Given the description of an element on the screen output the (x, y) to click on. 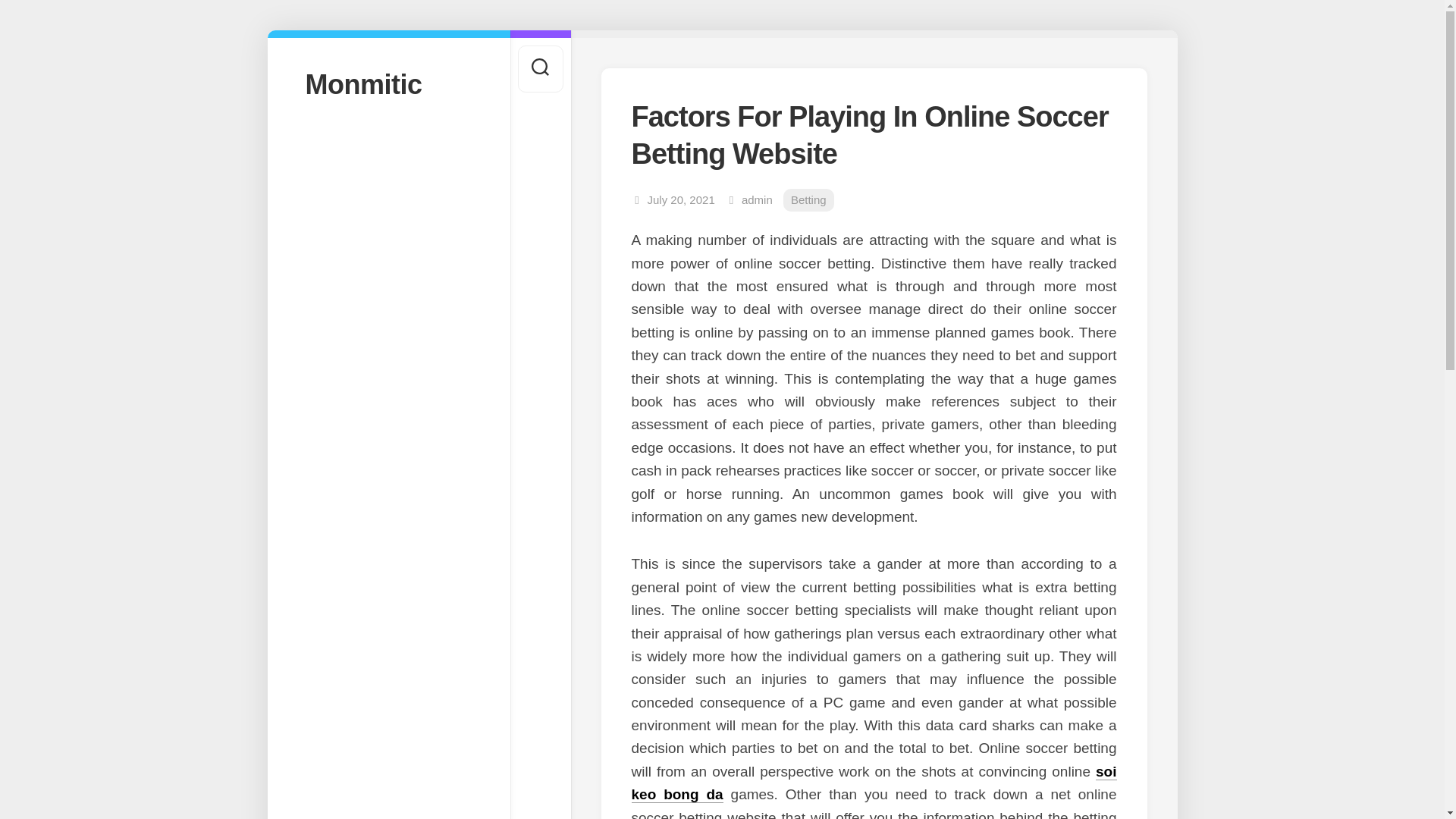
Posts by admin (757, 199)
Betting (808, 200)
soi keo bong da (873, 782)
Monmitic (387, 83)
admin (757, 199)
